Given the description of an element on the screen output the (x, y) to click on. 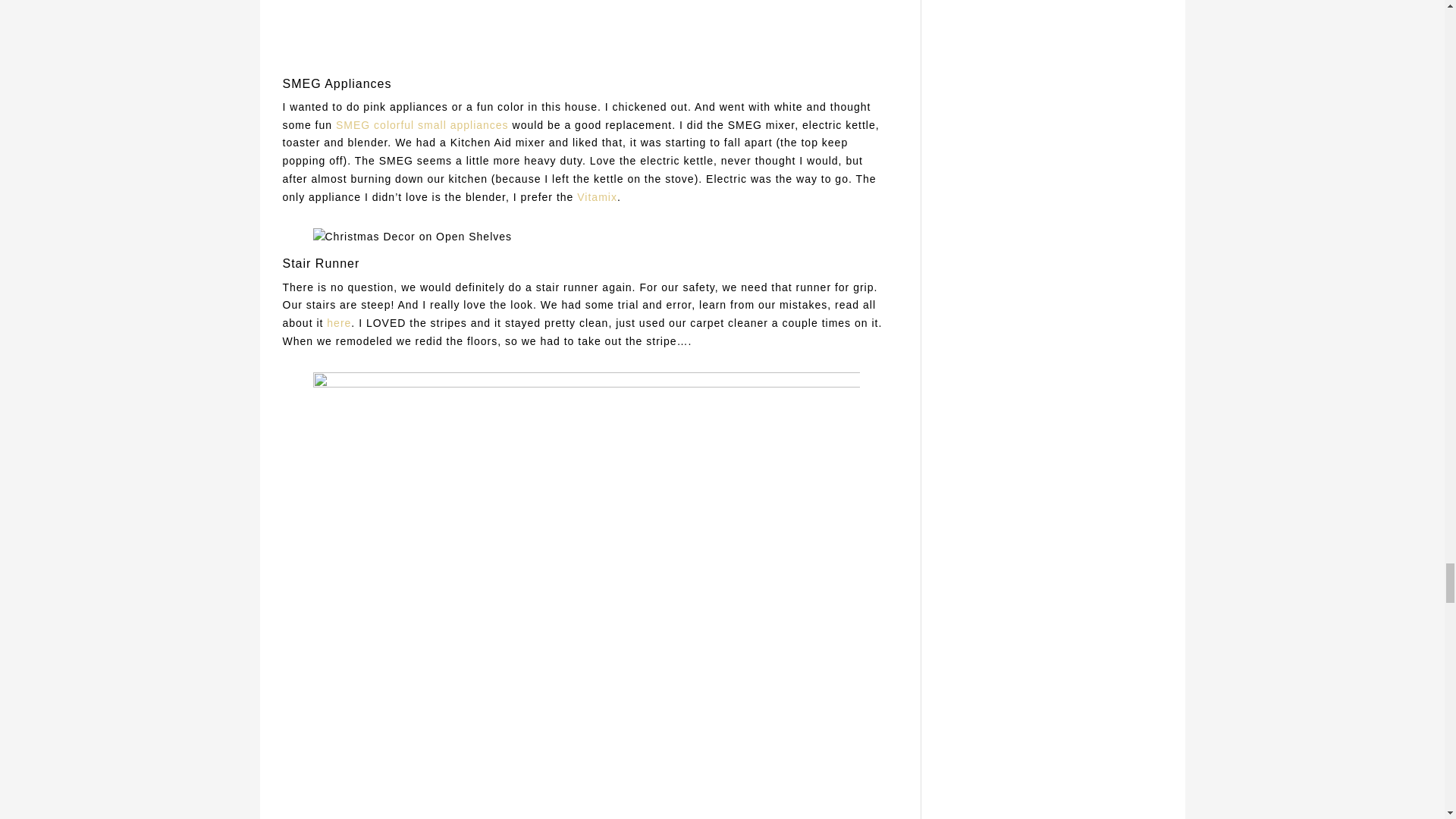
SMEG colorful small appliances (422, 124)
here (338, 322)
Vitamix (596, 196)
